Given the description of an element on the screen output the (x, y) to click on. 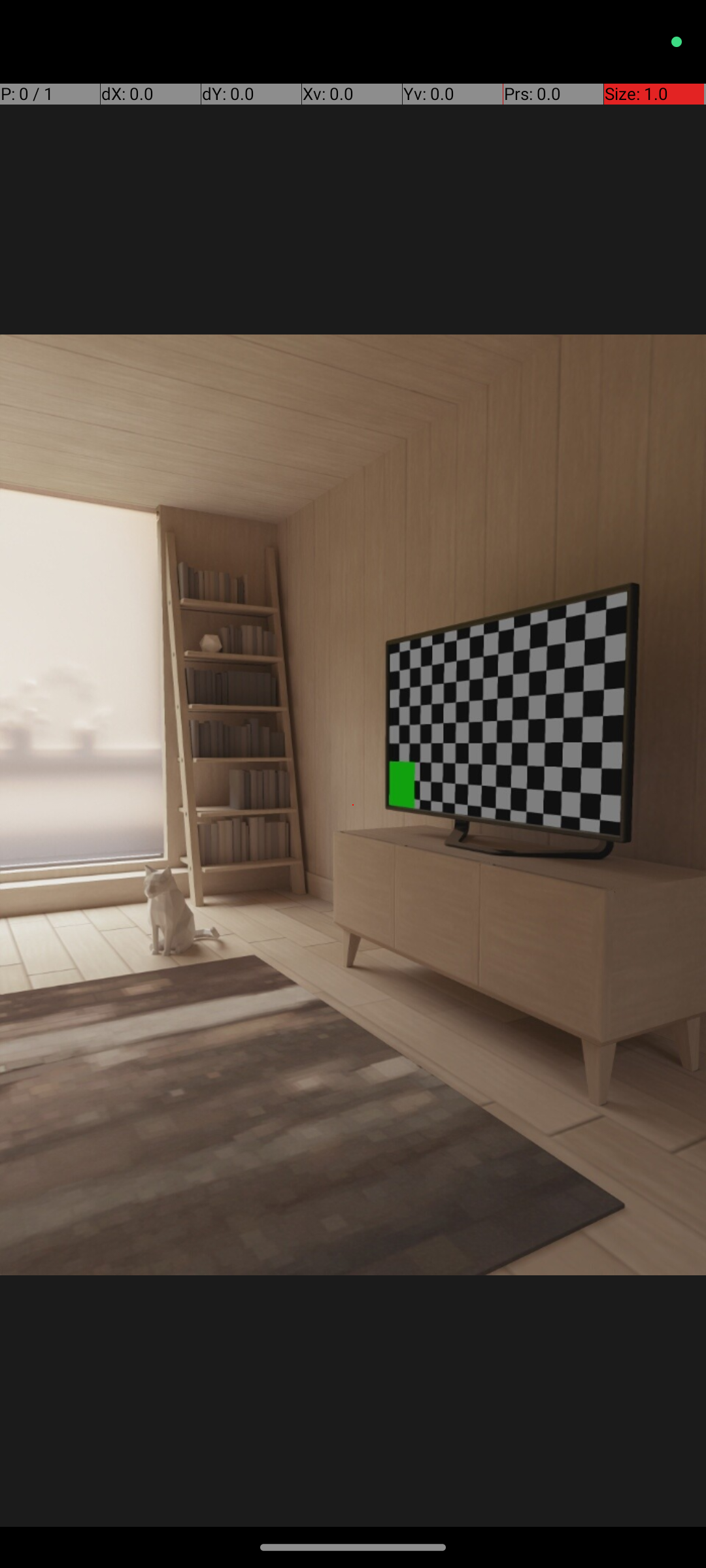
Photo taken on Oct 15, 2023 15:34:17 Element type: android.widget.ImageView (353, 804)
